Given the description of an element on the screen output the (x, y) to click on. 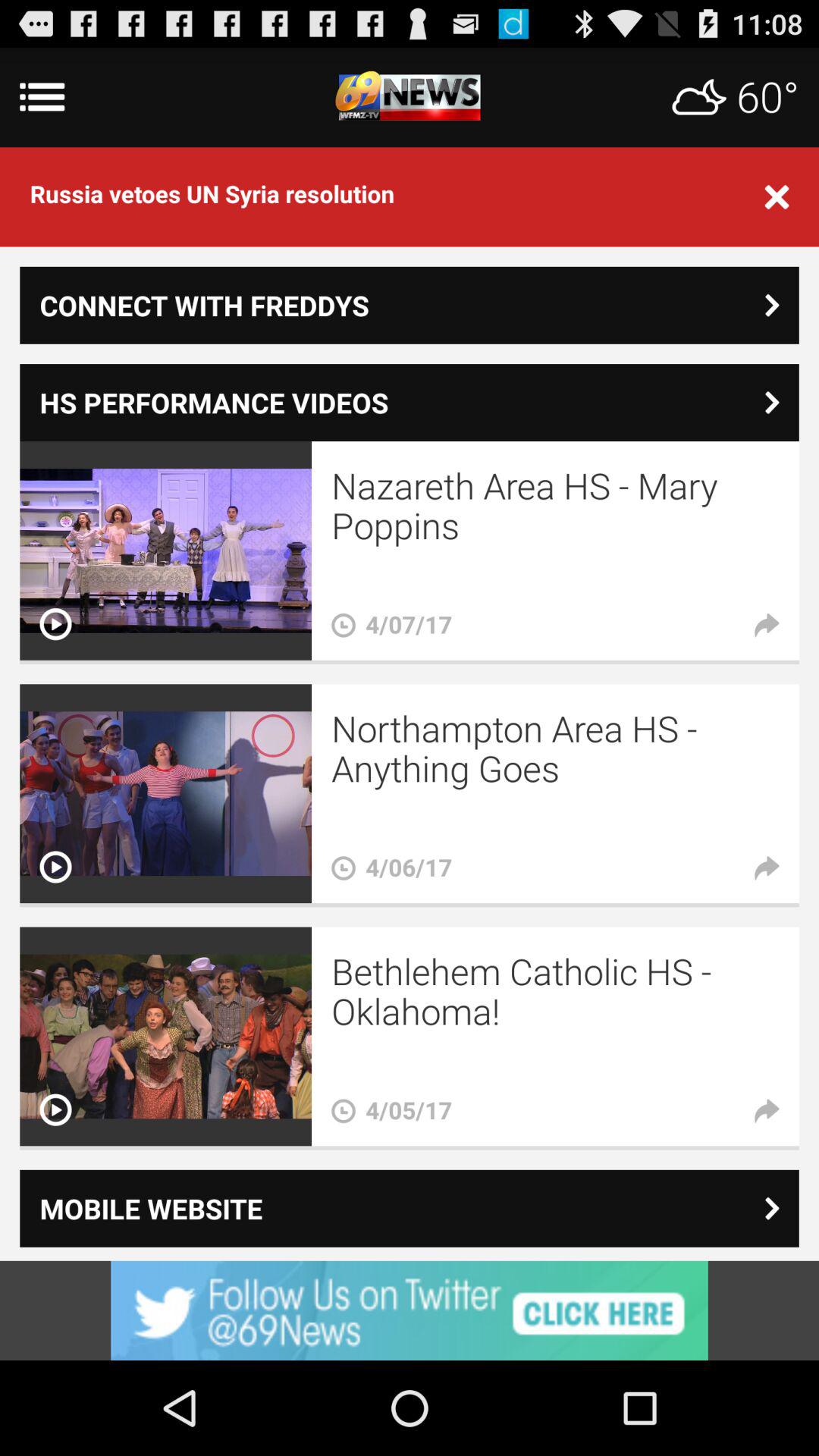
open advertisement (409, 1310)
